Given the description of an element on the screen output the (x, y) to click on. 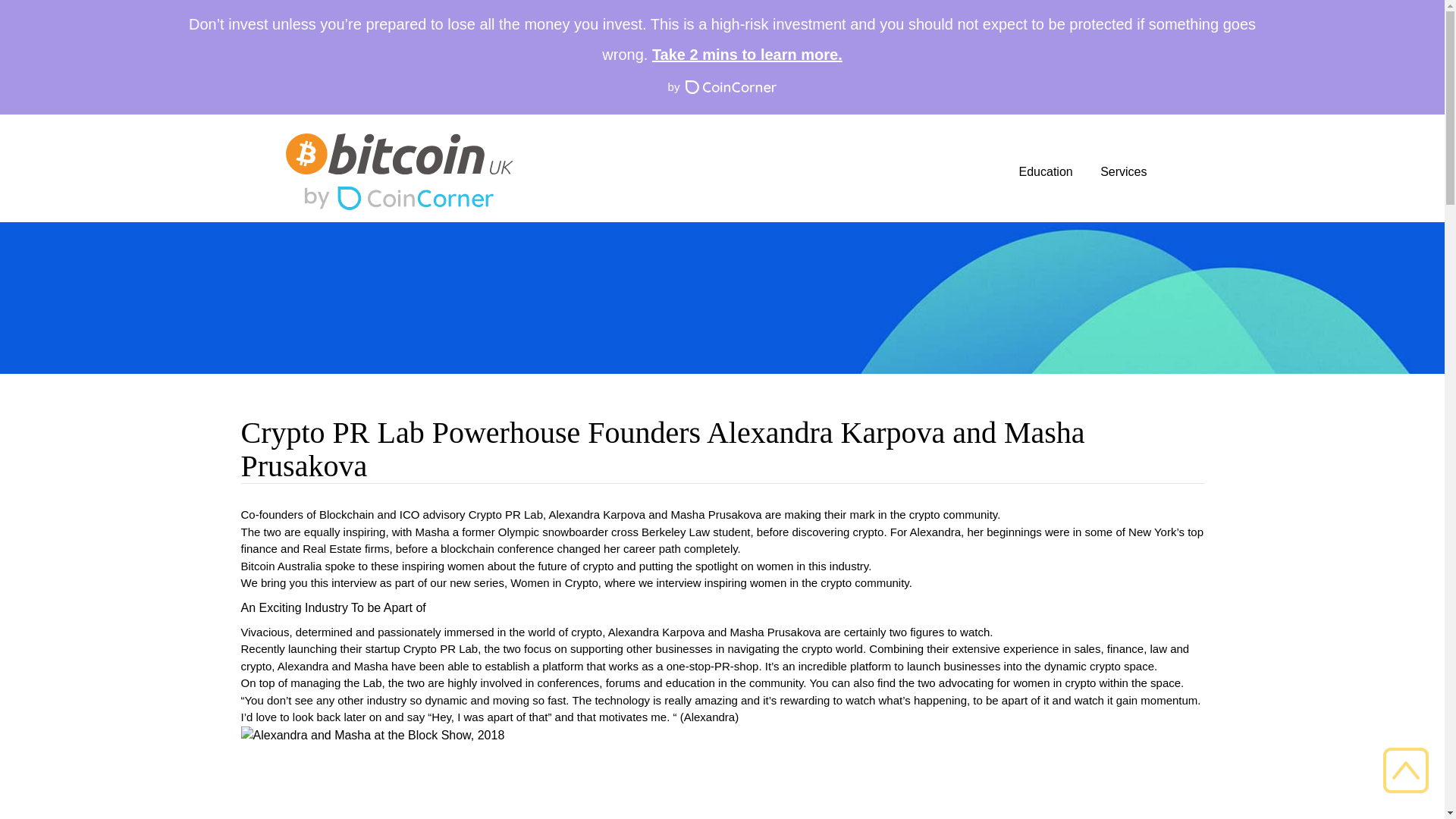
Education (1046, 171)
Take 2 mins to learn more. (747, 54)
Website by CoinCorner (721, 87)
Services (1123, 171)
Buy Bitcoin with CoinCorner (398, 197)
Bitcoin UK home (398, 153)
by (721, 87)
